Given the description of an element on the screen output the (x, y) to click on. 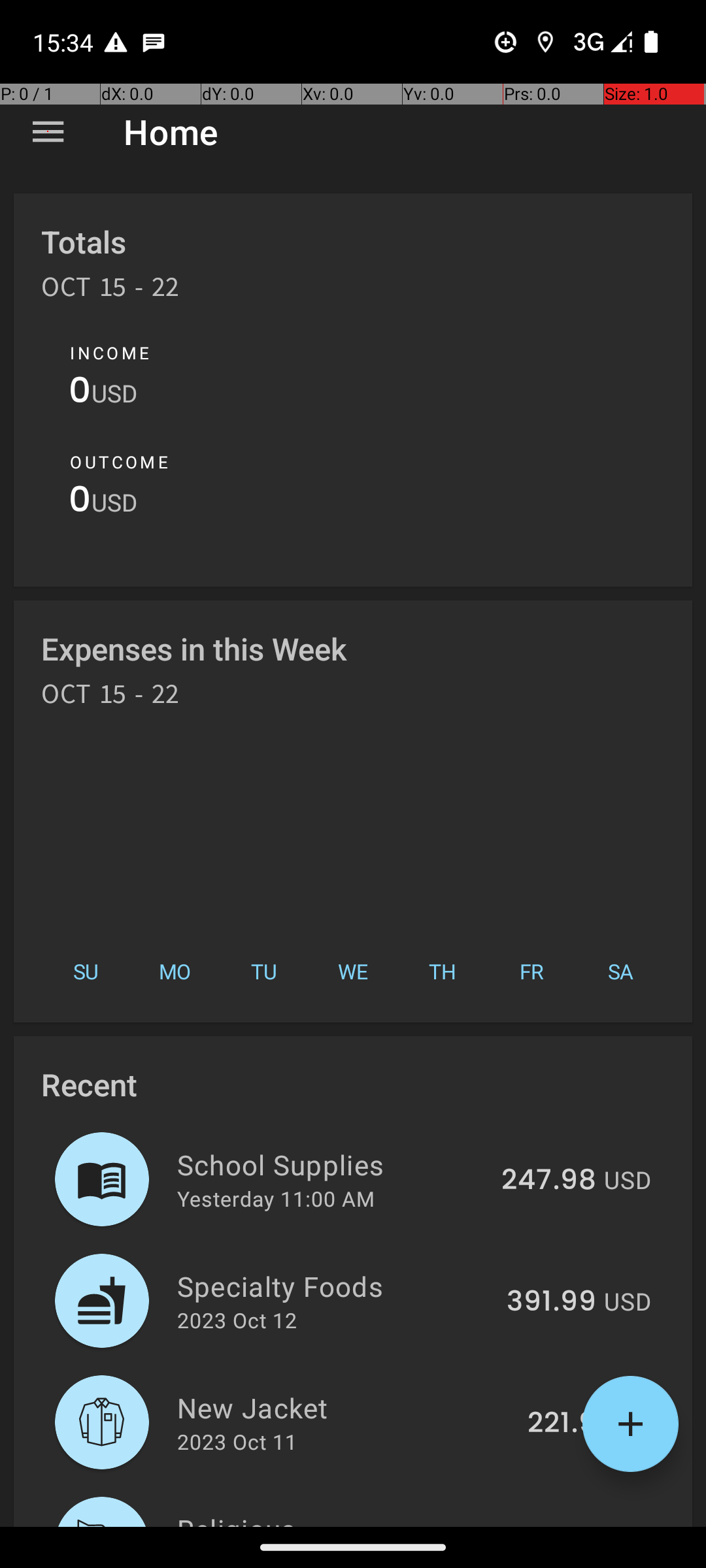
School Supplies Element type: android.widget.TextView (331, 1164)
Yesterday 11:00 AM Element type: android.widget.TextView (275, 1198)
247.98 Element type: android.widget.TextView (548, 1180)
Specialty Foods Element type: android.widget.TextView (334, 1285)
2023 Oct 12 Element type: android.widget.TextView (236, 1320)
391.99 Element type: android.widget.TextView (550, 1301)
New Jacket Element type: android.widget.TextView (344, 1407)
2023 Oct 11 Element type: android.widget.TextView (236, 1441)
221.9 Element type: android.widget.TextView (561, 1423)
Religious Element type: android.widget.TextView (335, 1518)
177.54 Element type: android.widget.TextView (552, 1524)
